Given the description of an element on the screen output the (x, y) to click on. 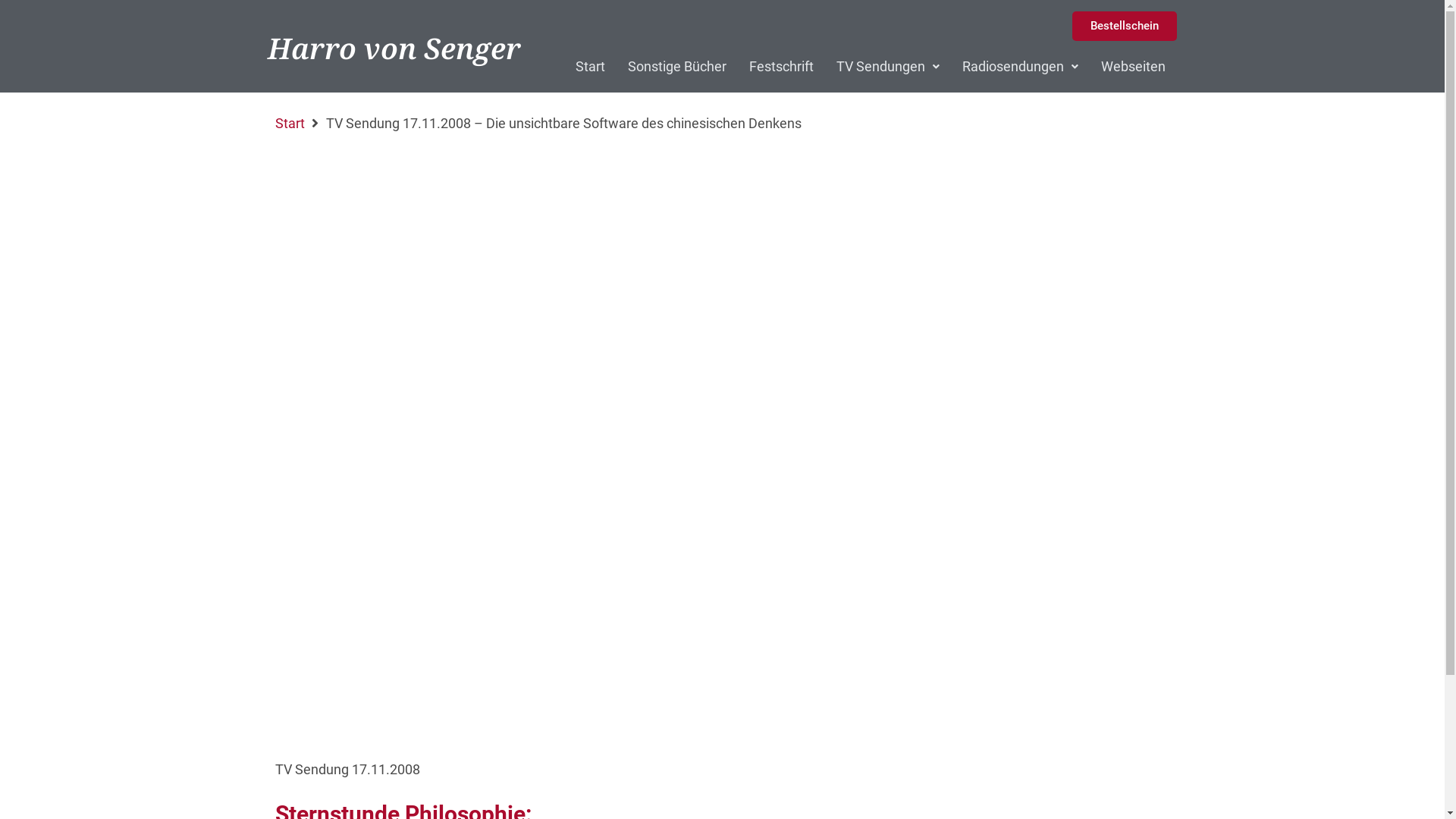
Start Element type: text (590, 66)
TV Sendungen Element type: text (887, 66)
Festschrift Element type: text (781, 66)
Harro von Senger Element type: text (393, 47)
Start Element type: text (289, 123)
Radiosendungen Element type: text (1019, 66)
Bestellschein Element type: text (1124, 25)
Webseiten Element type: text (1132, 66)
